Given the description of an element on the screen output the (x, y) to click on. 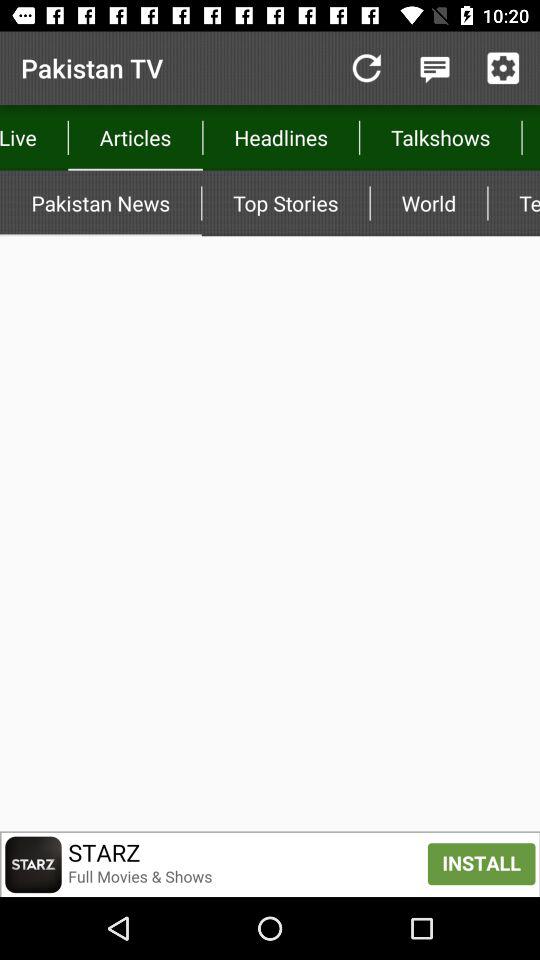
messaging (434, 67)
